Given the description of an element on the screen output the (x, y) to click on. 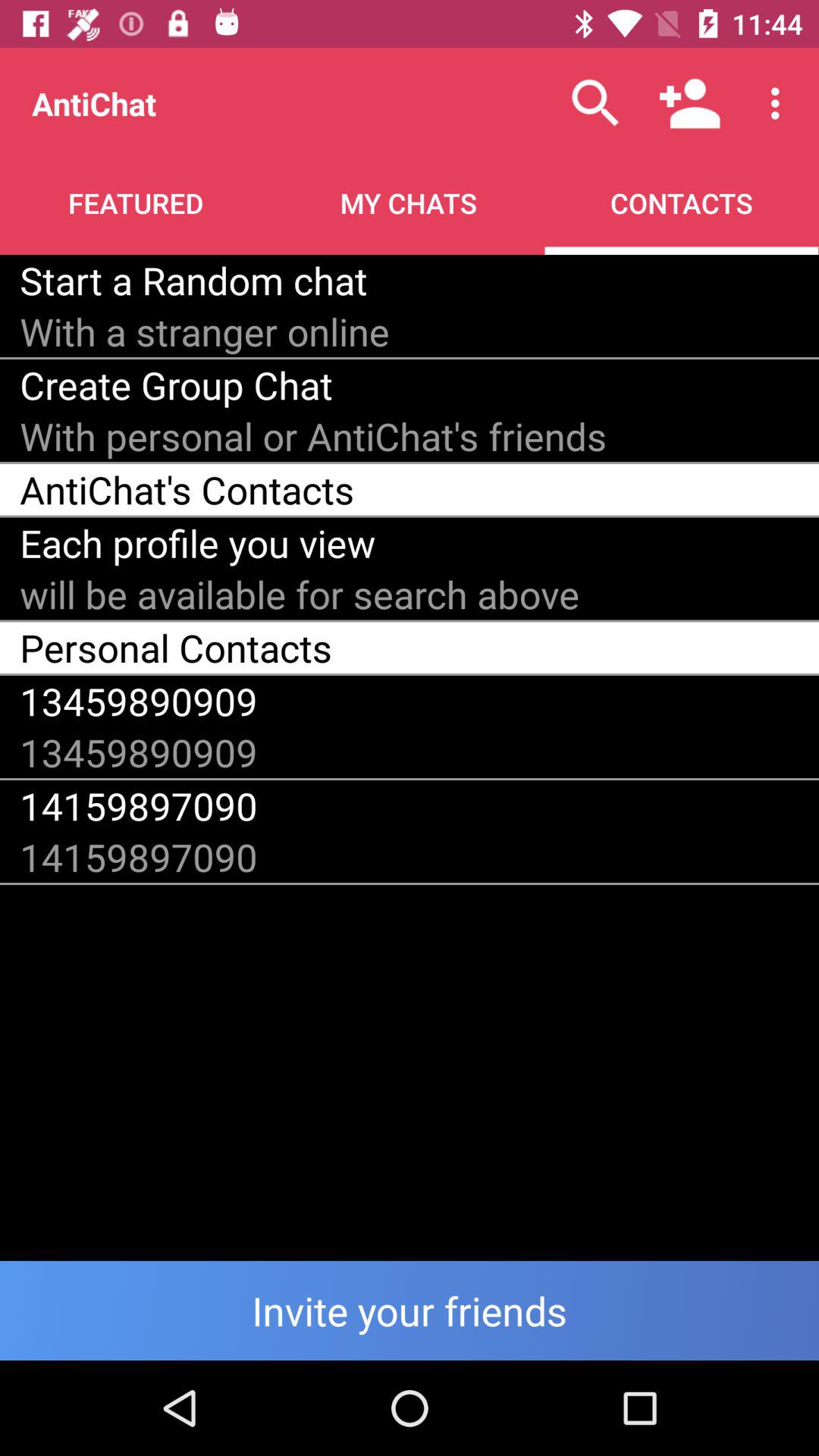
turn on the icon to the left of the contacts icon (193, 279)
